Given the description of an element on the screen output the (x, y) to click on. 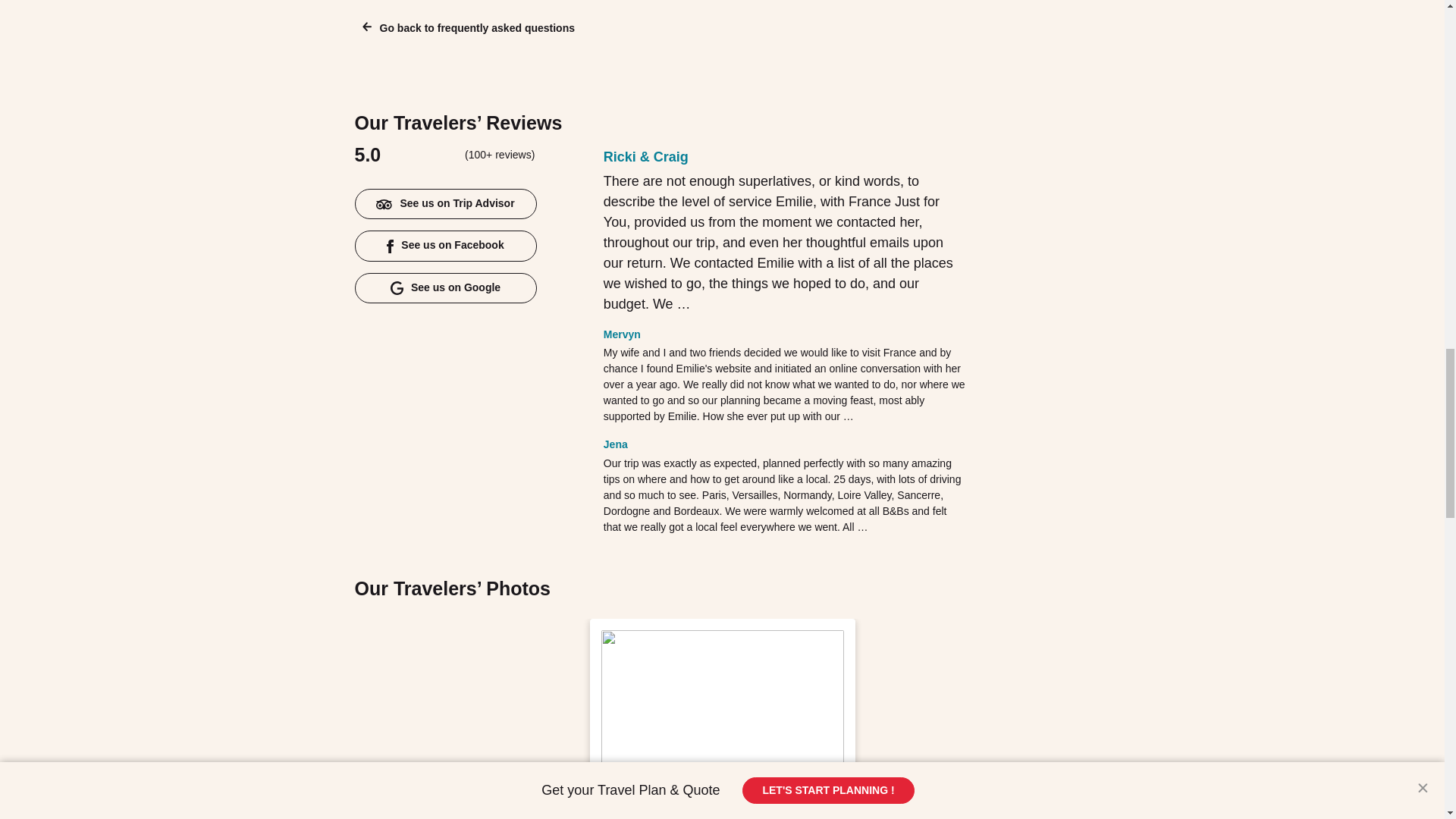
France Just For You on Trip Advisor (446, 204)
France Just For You on Google (446, 287)
Review note: 5.0 (745, 156)
Review note: 5.0 (676, 443)
France Just For You on Facebook (446, 245)
Review note: 5.0 (688, 333)
